Given the description of an element on the screen output the (x, y) to click on. 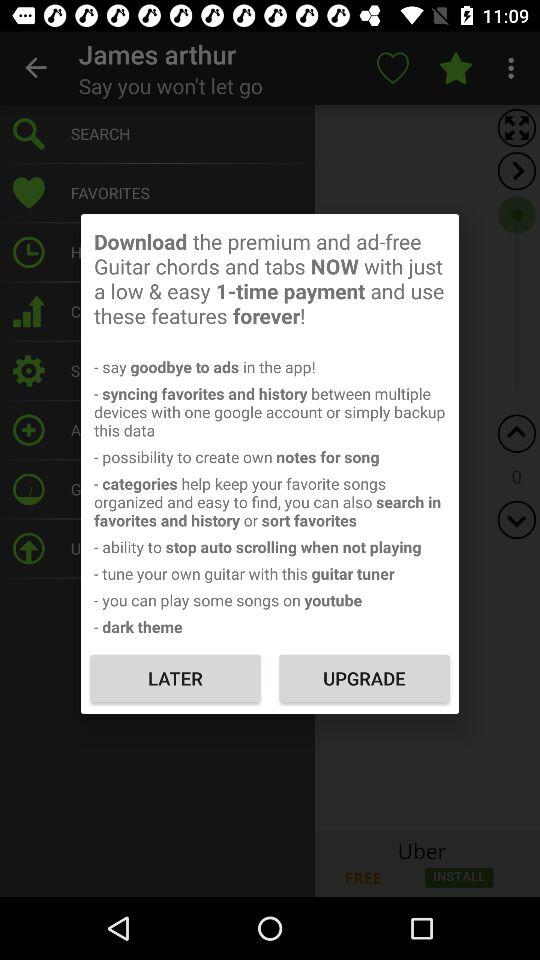
select icon below the - dark theme icon (175, 677)
